Given the description of an element on the screen output the (x, y) to click on. 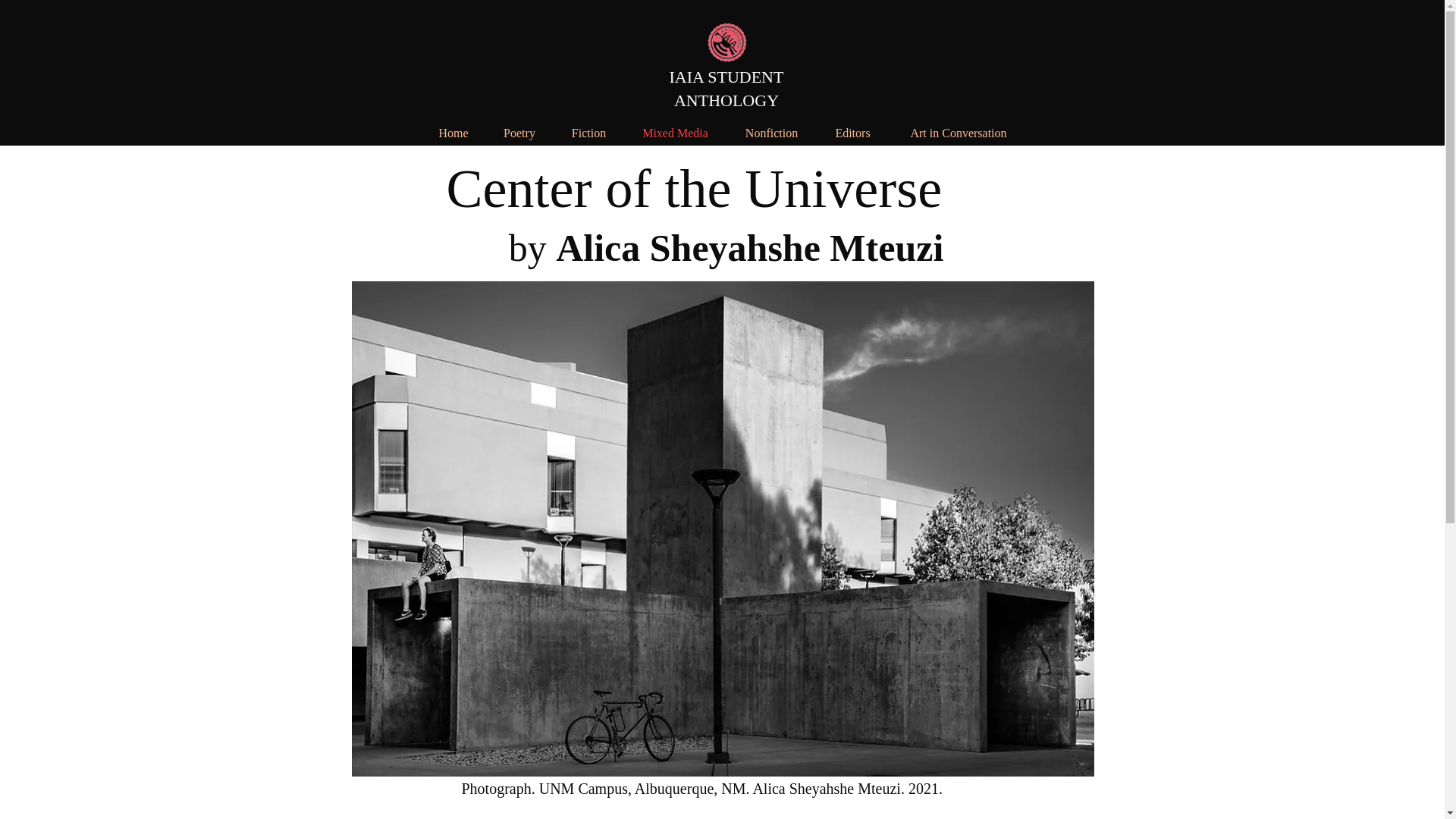
Home (454, 126)
Mixed Media (675, 126)
Art in Conversation (958, 126)
Fiction (588, 126)
IAIA STUDENT ANTHOLOGY (725, 88)
Poetry (518, 126)
Nonfiction (771, 126)
Editors (852, 126)
